Given the description of an element on the screen output the (x, y) to click on. 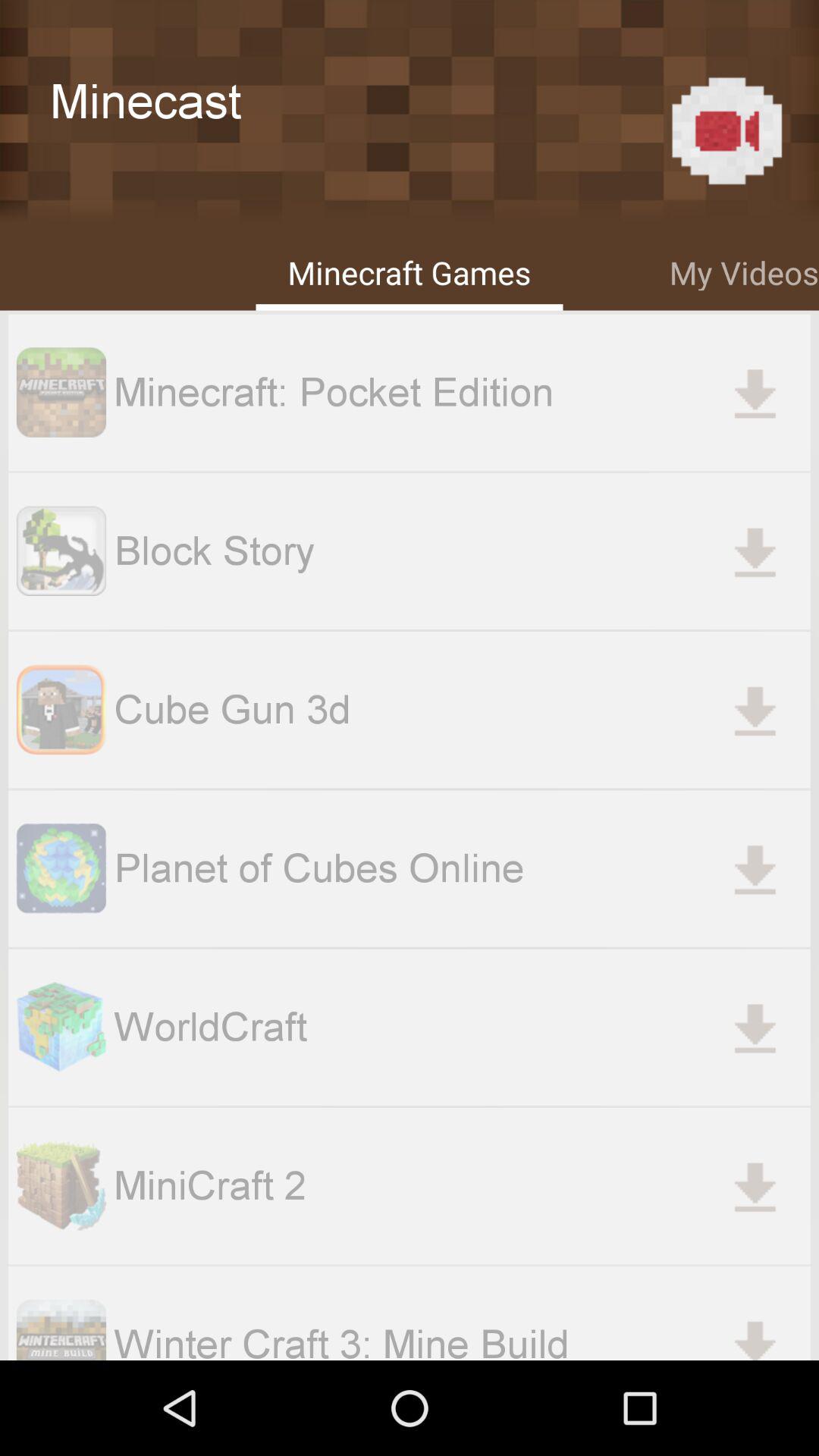
click the app next to minecraft games item (744, 270)
